Given the description of an element on the screen output the (x, y) to click on. 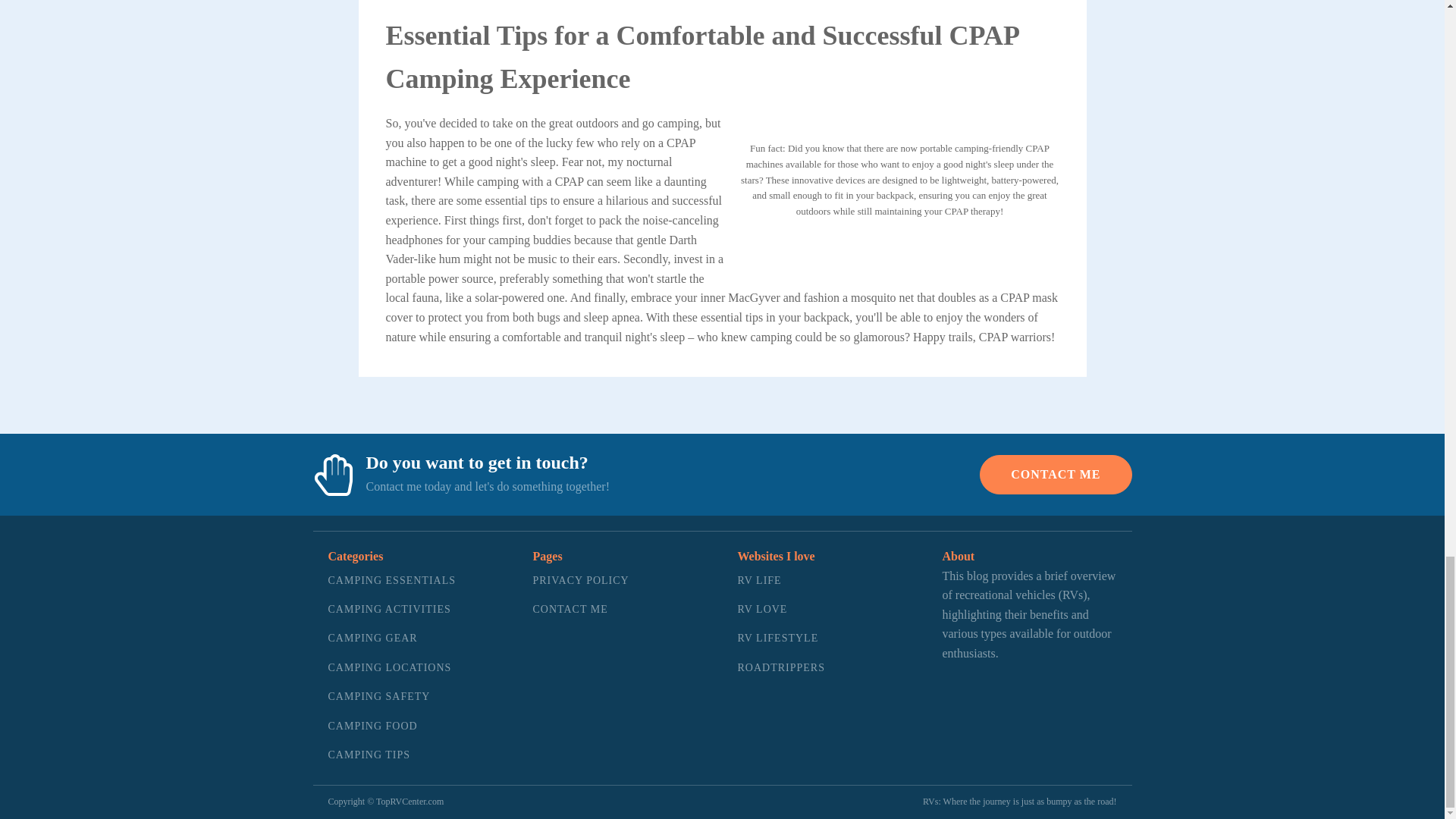
PRIVACY POLICY (580, 580)
RV LOVE (780, 609)
RV LIFE (780, 580)
CAMPING FOOD (391, 726)
CAMPING SAFETY (391, 696)
CAMPING GEAR (391, 638)
ROADTRIPPERS (780, 667)
CAMPING TIPS (391, 755)
CAMPING ESSENTIALS (391, 580)
CONTACT ME (580, 609)
